Given the description of an element on the screen output the (x, y) to click on. 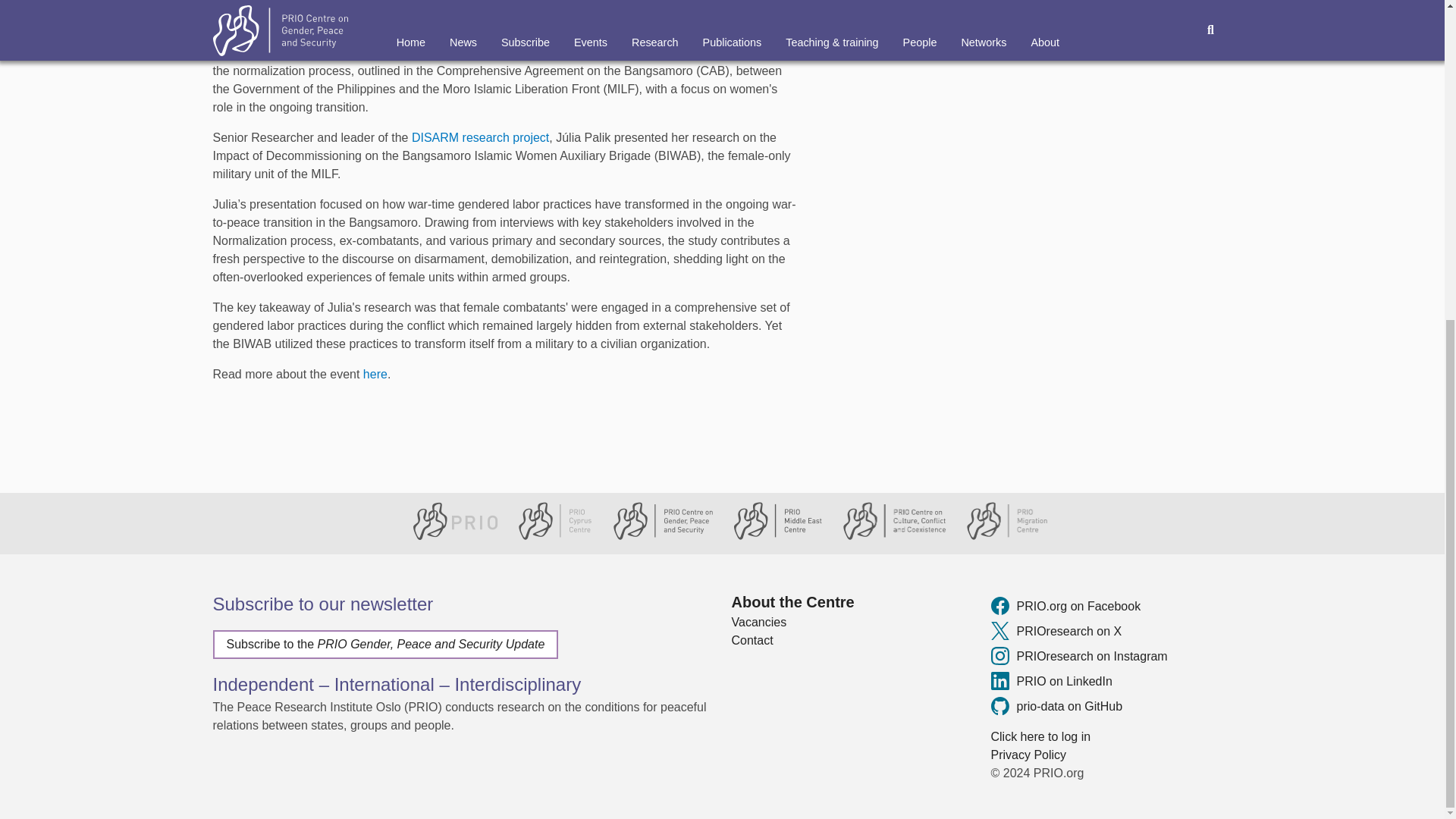
Subscribe to the PRIO Gender, Peace and Security Update (384, 644)
DISARM research project (480, 137)
About the Centre (851, 601)
here (374, 373)
Vacancies (851, 622)
